Given the description of an element on the screen output the (x, y) to click on. 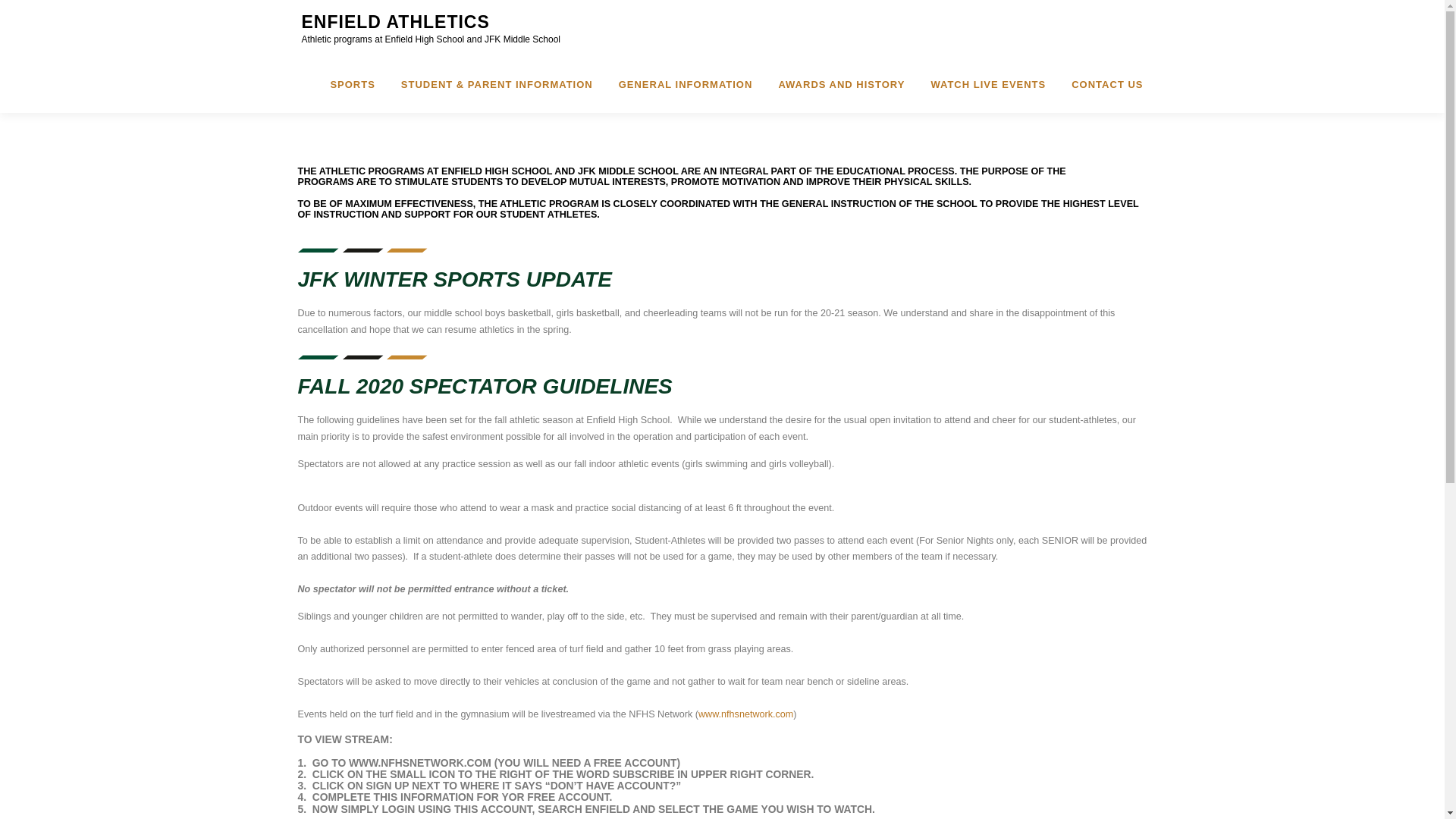
AWARDS AND HISTORY (841, 84)
GENERAL INFORMATION (685, 84)
ENFIELD ATHLETICS (395, 21)
www.nfhsnetwork.com (745, 714)
CONTACT US (1100, 84)
WATCH LIVE EVENTS (987, 84)
SPORTS (352, 84)
